Given the description of an element on the screen output the (x, y) to click on. 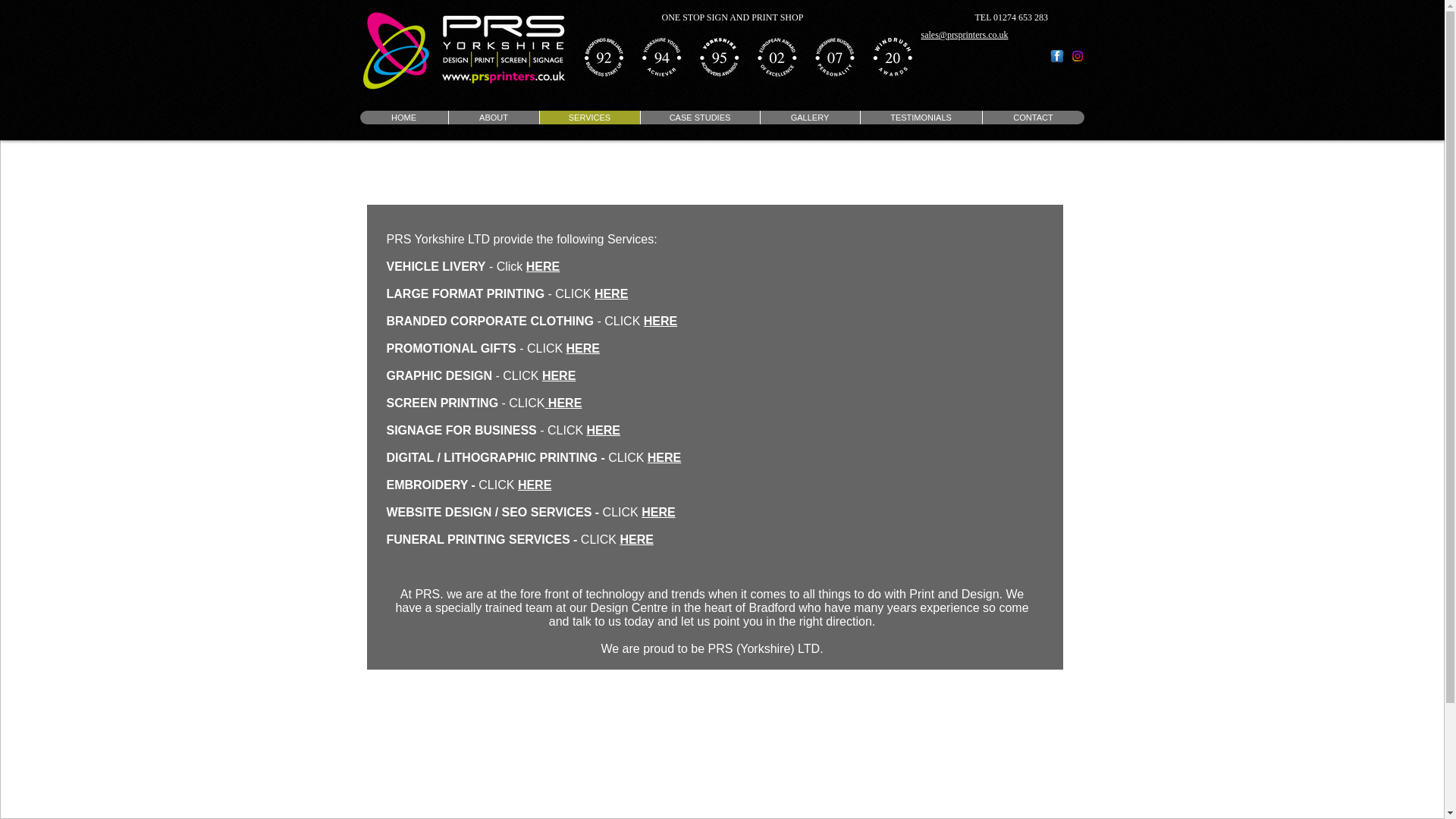
TESTIMONIALS (920, 117)
TEL 01274 653 283 (1011, 17)
HERE (664, 457)
CASE STUDIES (700, 117)
GALLERY (810, 117)
HERE (603, 430)
HOME (402, 117)
HERE (660, 320)
HERE (610, 293)
HERE (562, 402)
